Given the description of an element on the screen output the (x, y) to click on. 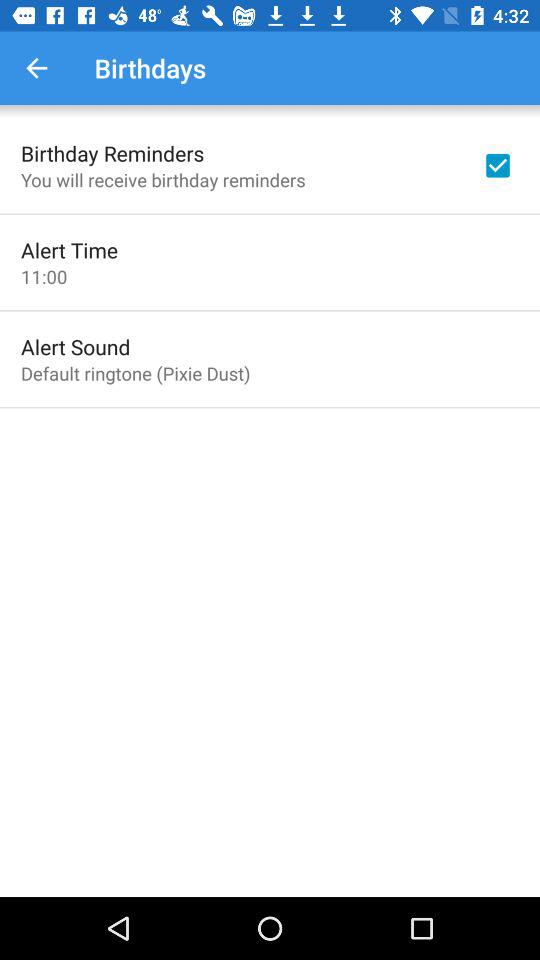
scroll to default ringtone pixie icon (135, 373)
